Given the description of an element on the screen output the (x, y) to click on. 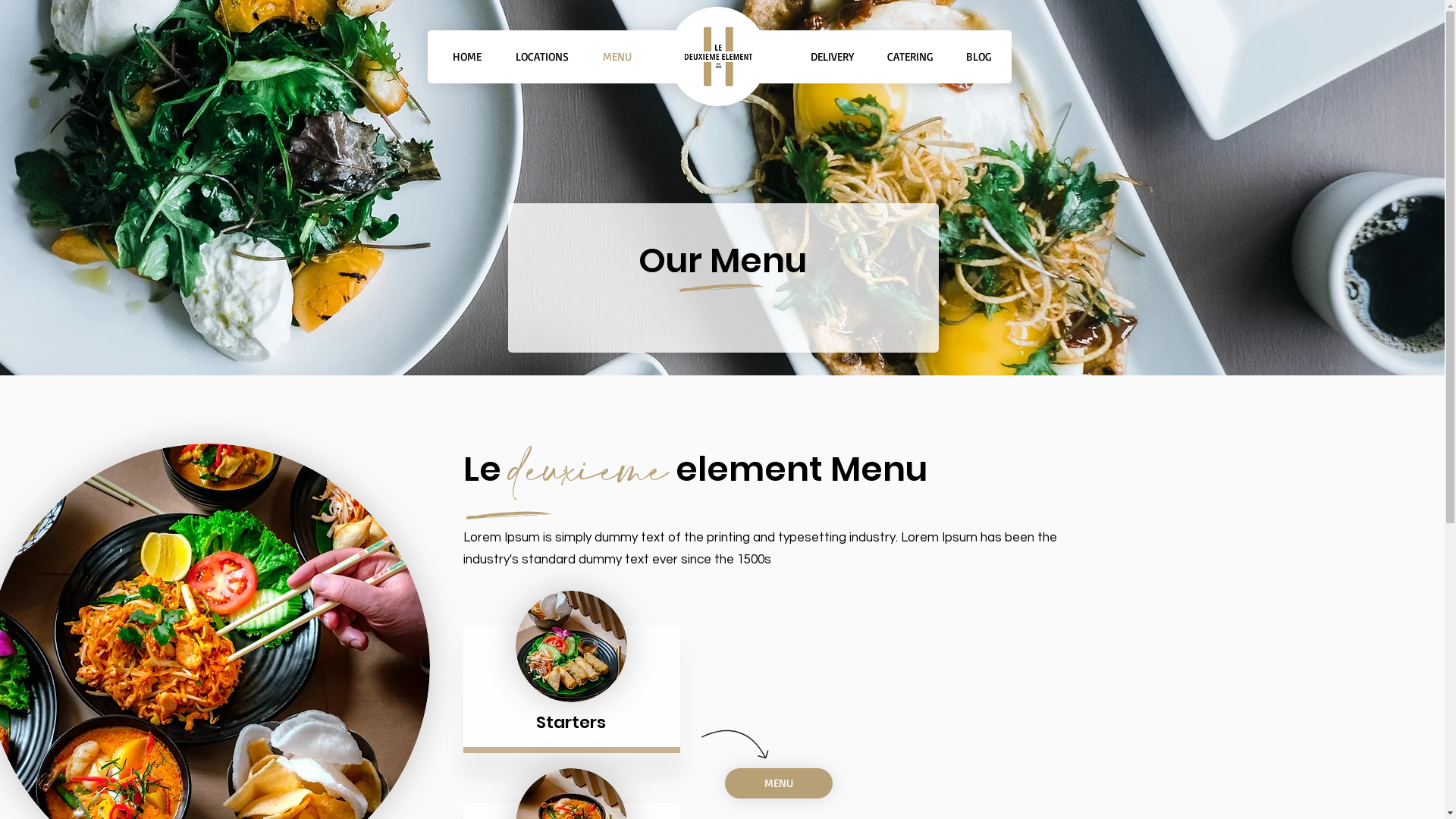
MENU Element type: text (616, 56)
MENU Element type: text (778, 783)
CATERING Element type: text (909, 56)
BLOG Element type: text (978, 56)
DELIVERY Element type: text (831, 56)
LOCATIONS Element type: text (542, 56)
This is navigation page Element type: text (721, 56)
HOME Element type: text (466, 56)
